Given the description of an element on the screen output the (x, y) to click on. 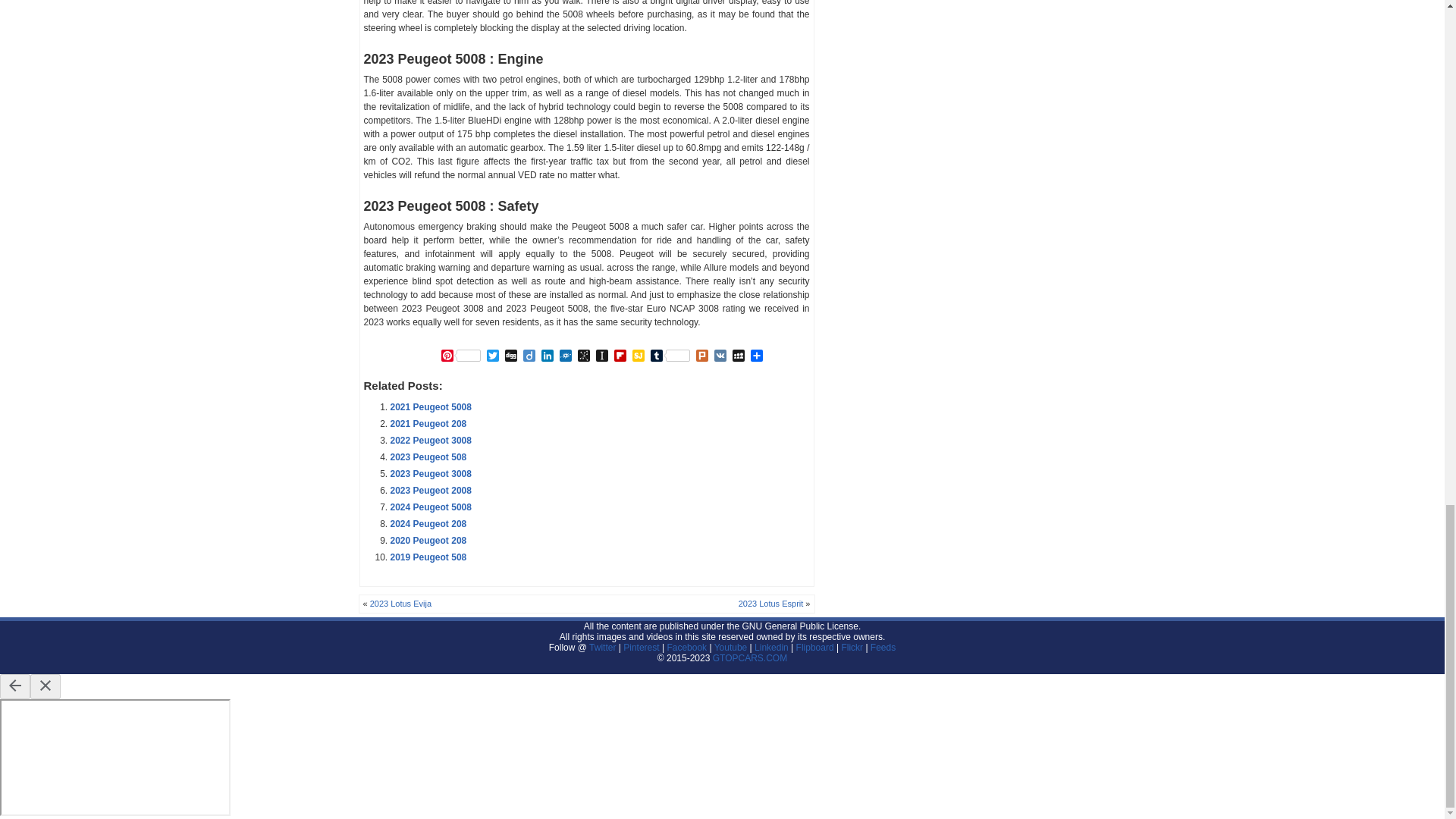
Diigo (528, 356)
LinkedIn (547, 356)
Folkd (565, 356)
Digg (510, 356)
BibSonomy (583, 356)
Instapaper (601, 356)
Flipboard (619, 356)
Pinterest (460, 356)
Twitter (492, 356)
Folkd (565, 356)
Twitter (492, 356)
Digg (510, 356)
SiteJot (637, 356)
Diigo (528, 356)
Pinterest (460, 356)
